Given the description of an element on the screen output the (x, y) to click on. 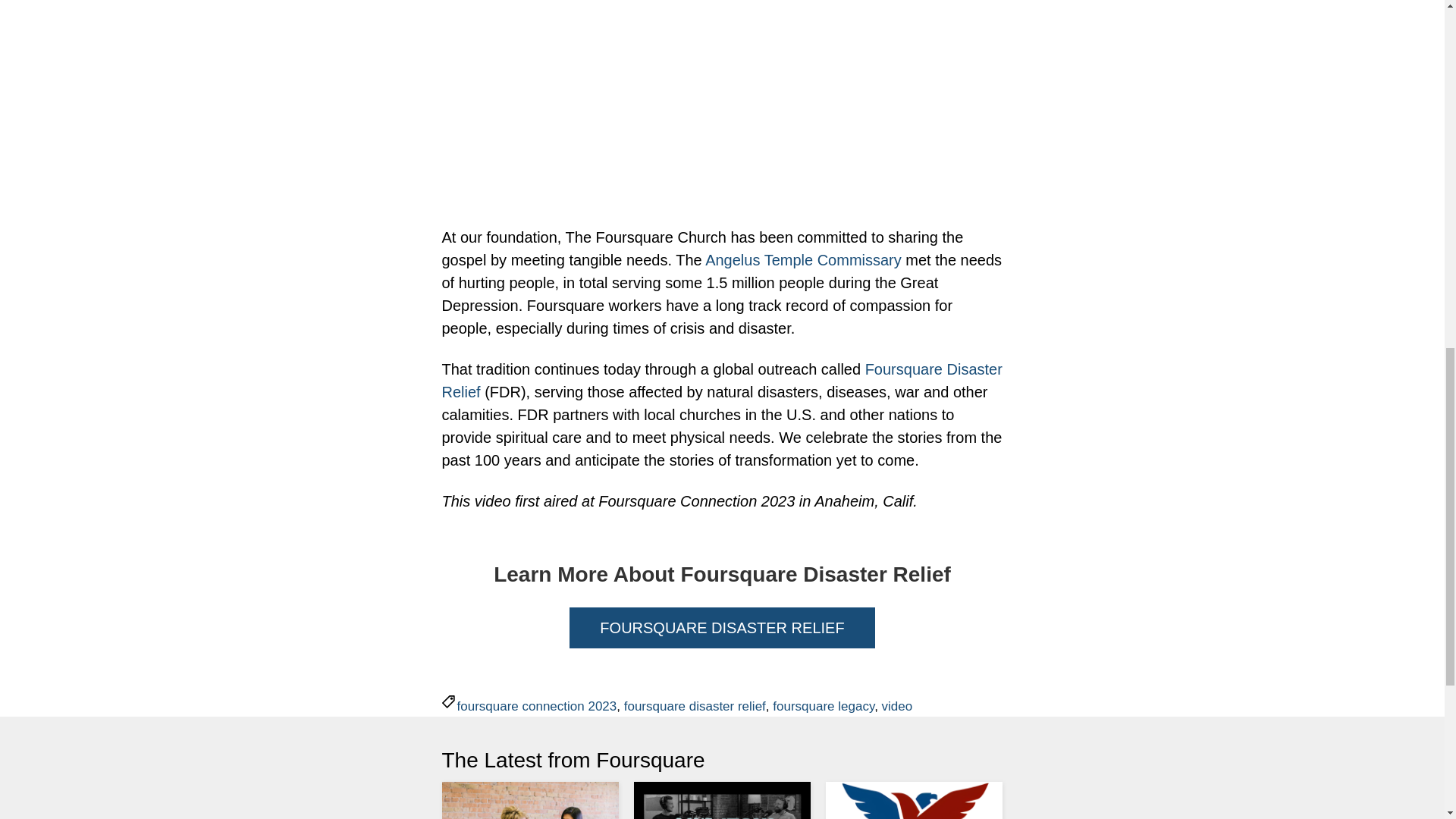
FOURSQUARE DISASTER RELIEF (722, 627)
foursquare legacy (824, 706)
foursquare disaster relief (694, 706)
video (897, 706)
Angelus Temple Commissary (802, 259)
Foursquare Disaster Relief (721, 380)
foursquare connection 2023 (536, 706)
100 Years of The Gospel in Action (722, 97)
